Given the description of an element on the screen output the (x, y) to click on. 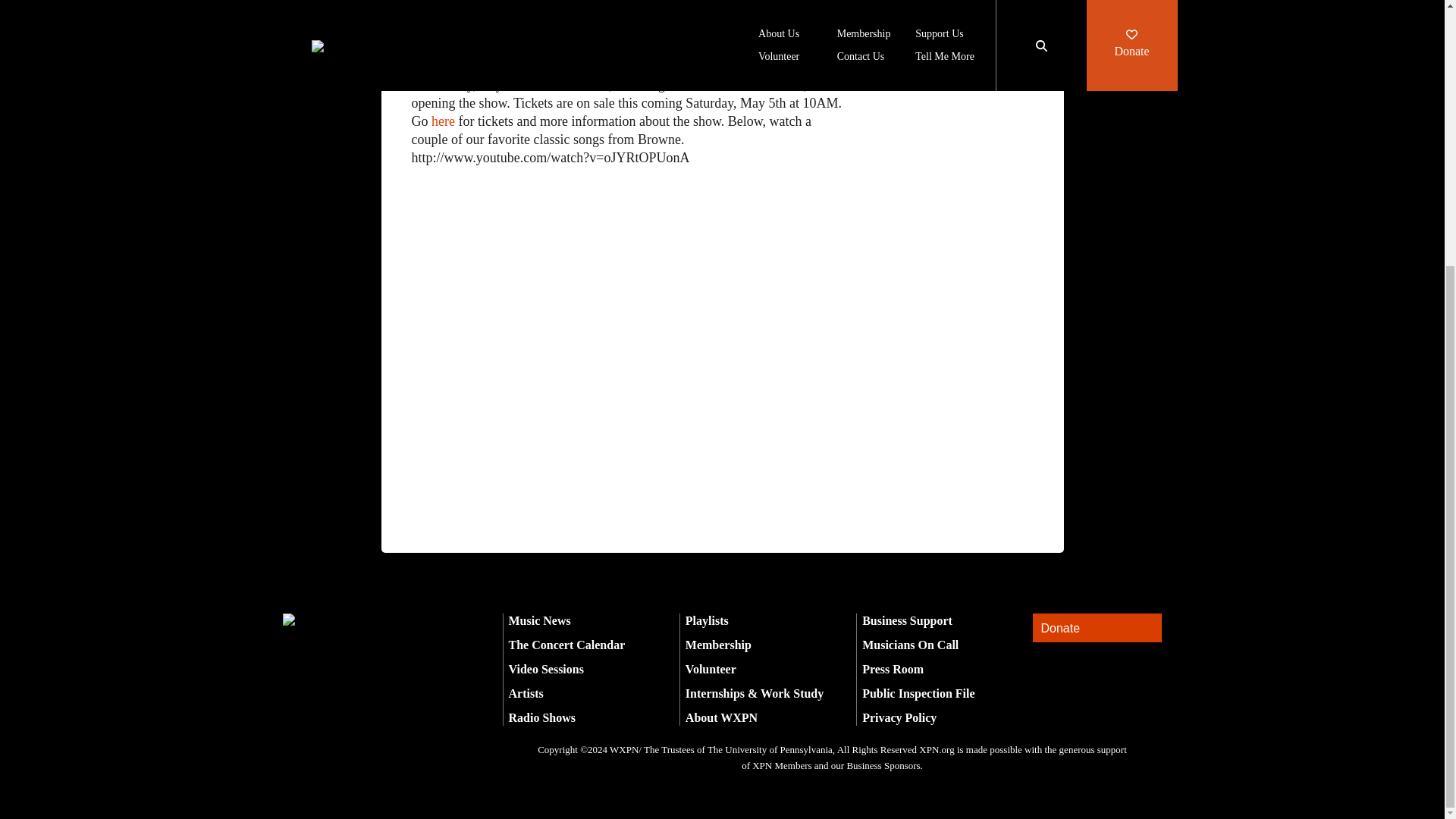
Video Sessions (545, 668)
The Concert Calendar (566, 644)
Music News (539, 620)
Artists (525, 693)
Membership (718, 644)
Jackson Browne For A Dancer (627, 309)
Business Support (906, 620)
Public Inspection File (917, 693)
Academy of Music (742, 66)
Jackson Browne (455, 66)
